Given the description of an element on the screen output the (x, y) to click on. 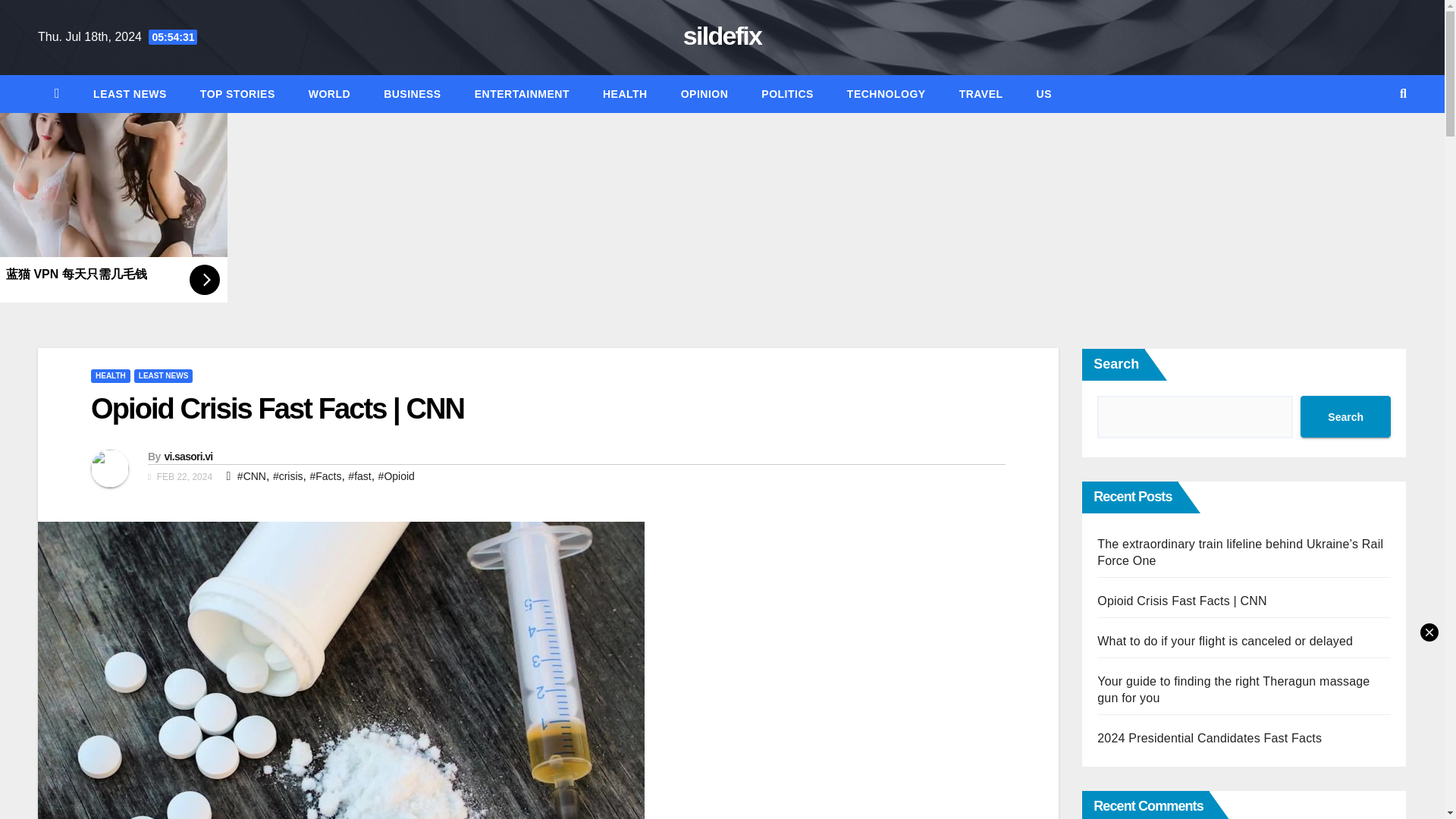
TOP STORIES (237, 94)
Entertainment (522, 94)
HEALTH (624, 94)
vi.sasori.vi (187, 456)
US (1044, 94)
Technology (885, 94)
World (329, 94)
Top Stories (237, 94)
WORLD (329, 94)
Opinion (704, 94)
ENTERTAINMENT (522, 94)
US (1044, 94)
OPINION (704, 94)
LEAST NEWS (163, 376)
LEAST NEWS (130, 94)
